Given the description of an element on the screen output the (x, y) to click on. 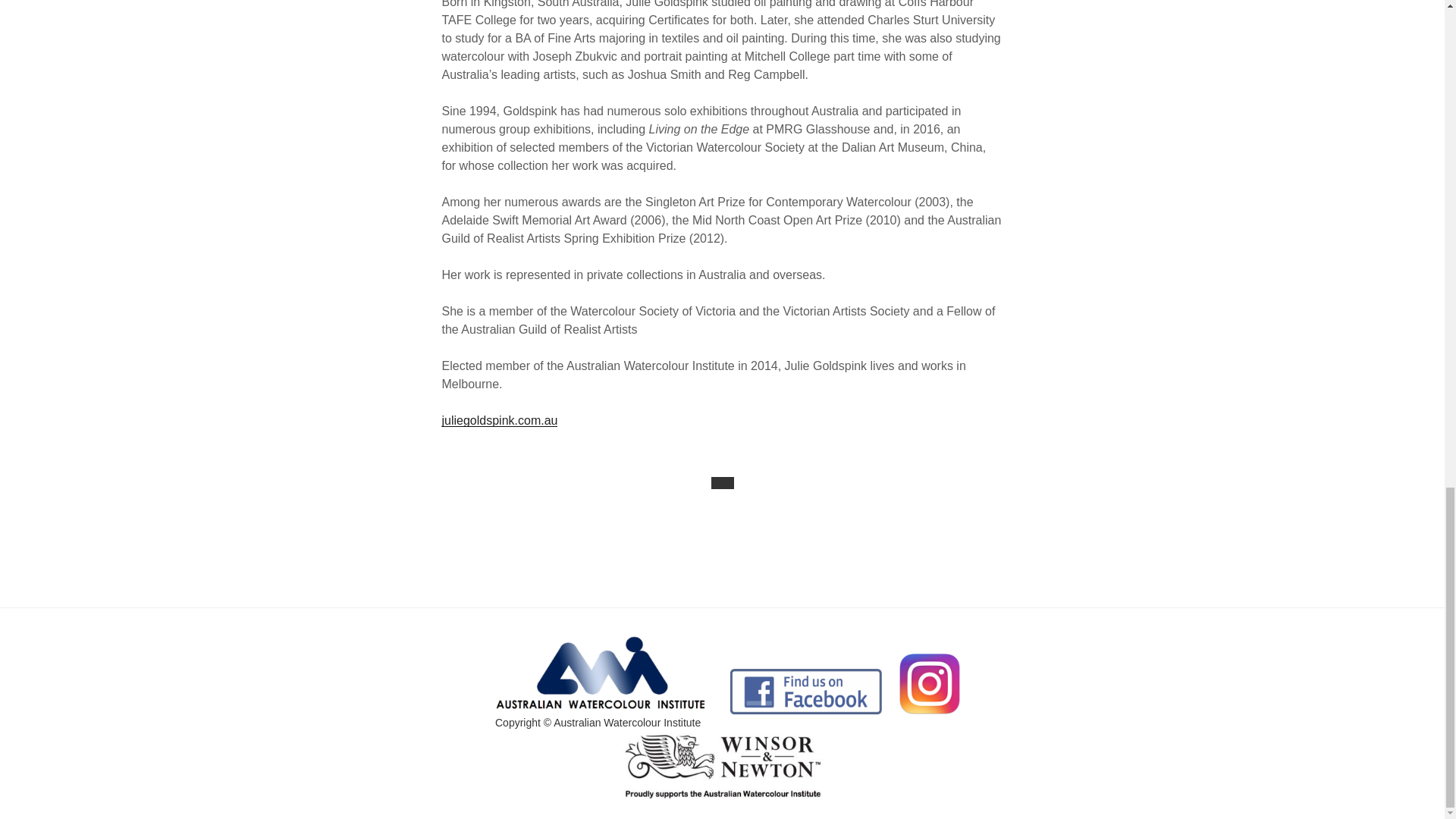
juliegoldspink.com.au (499, 420)
